Given the description of an element on the screen output the (x, y) to click on. 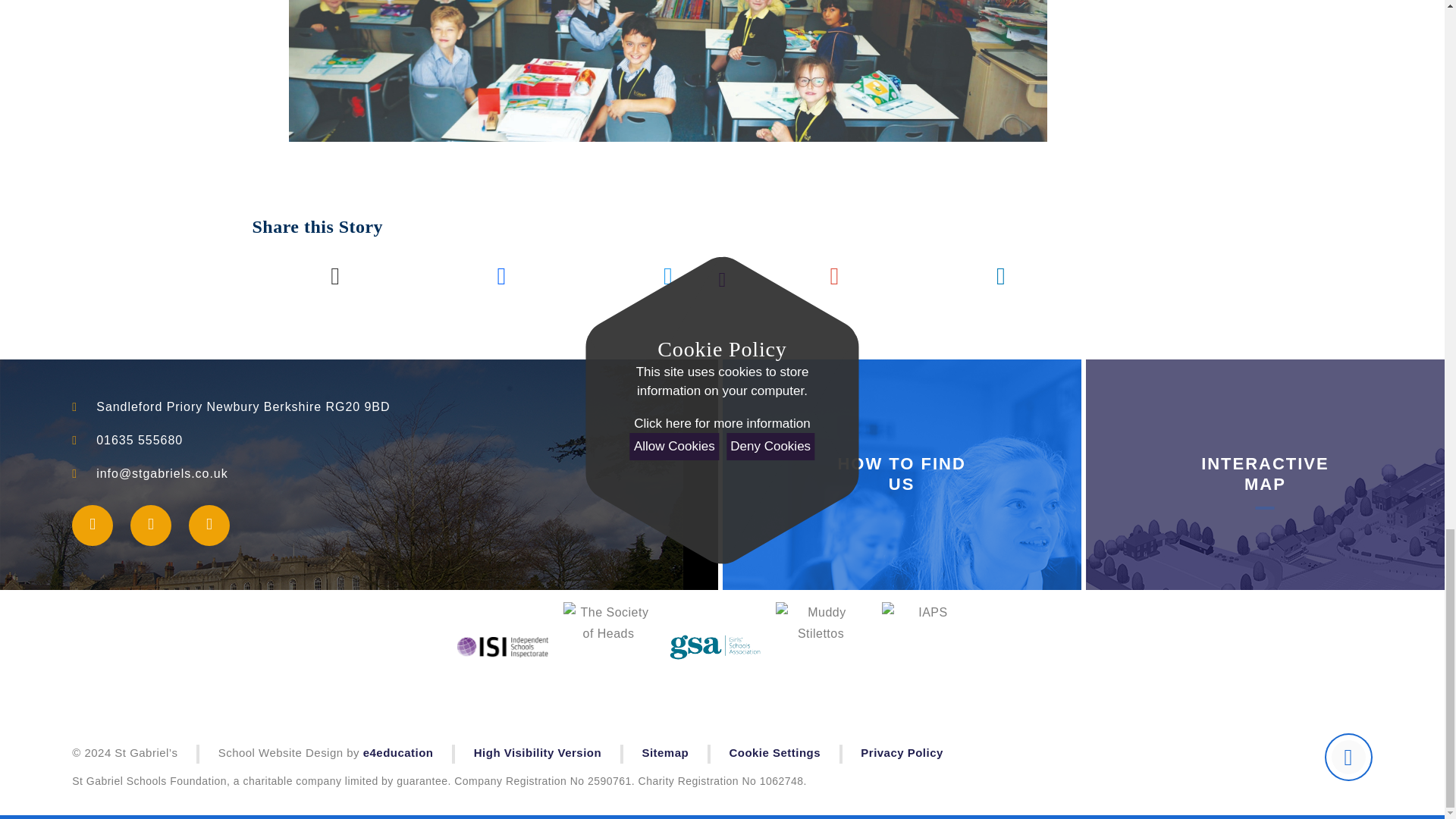
Cookie Settings (775, 752)
